Given the description of an element on the screen output the (x, y) to click on. 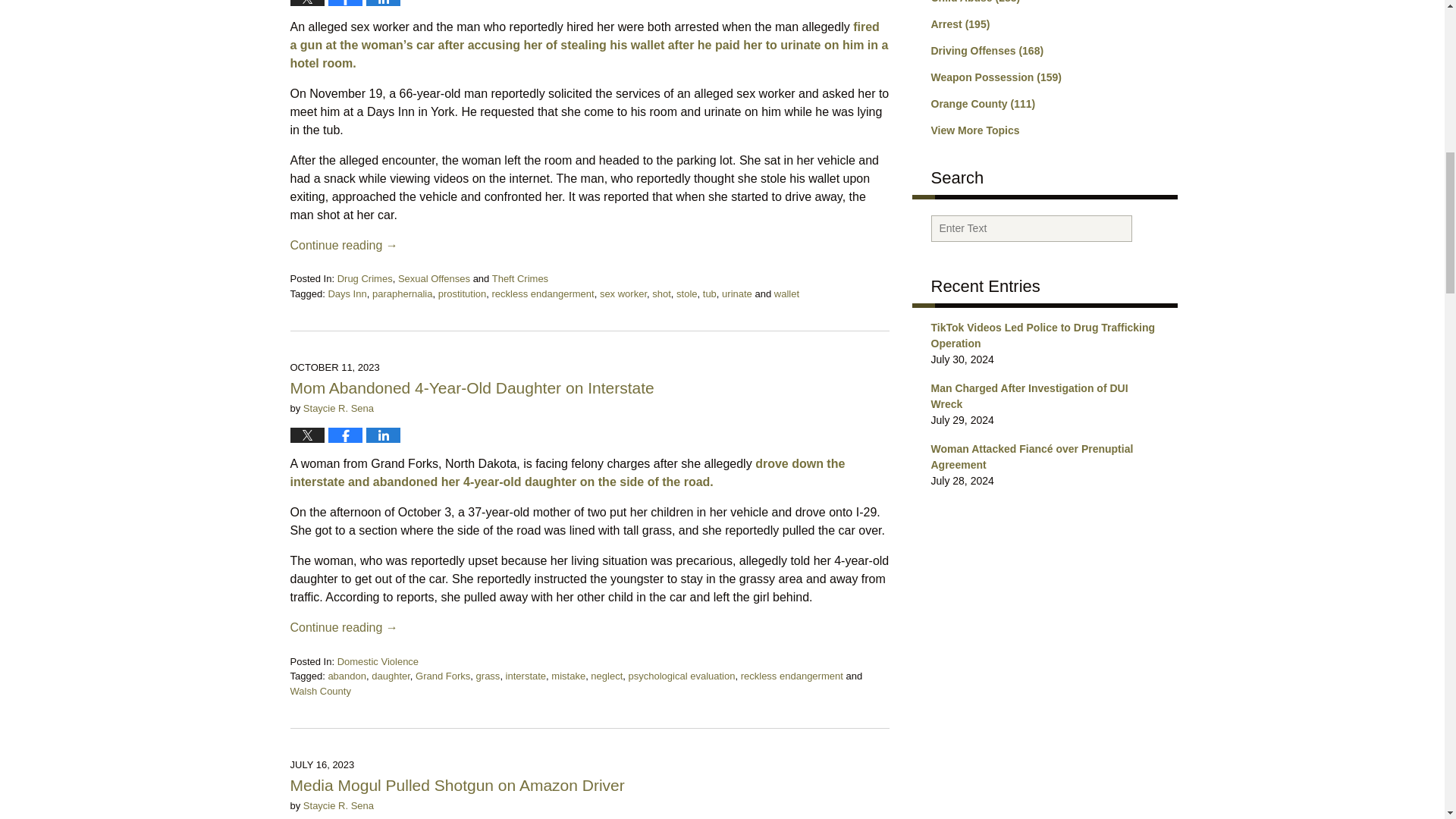
View all posts in Sexual Offenses (433, 278)
View all posts in Drug Crimes (365, 278)
